Given the description of an element on the screen output the (x, y) to click on. 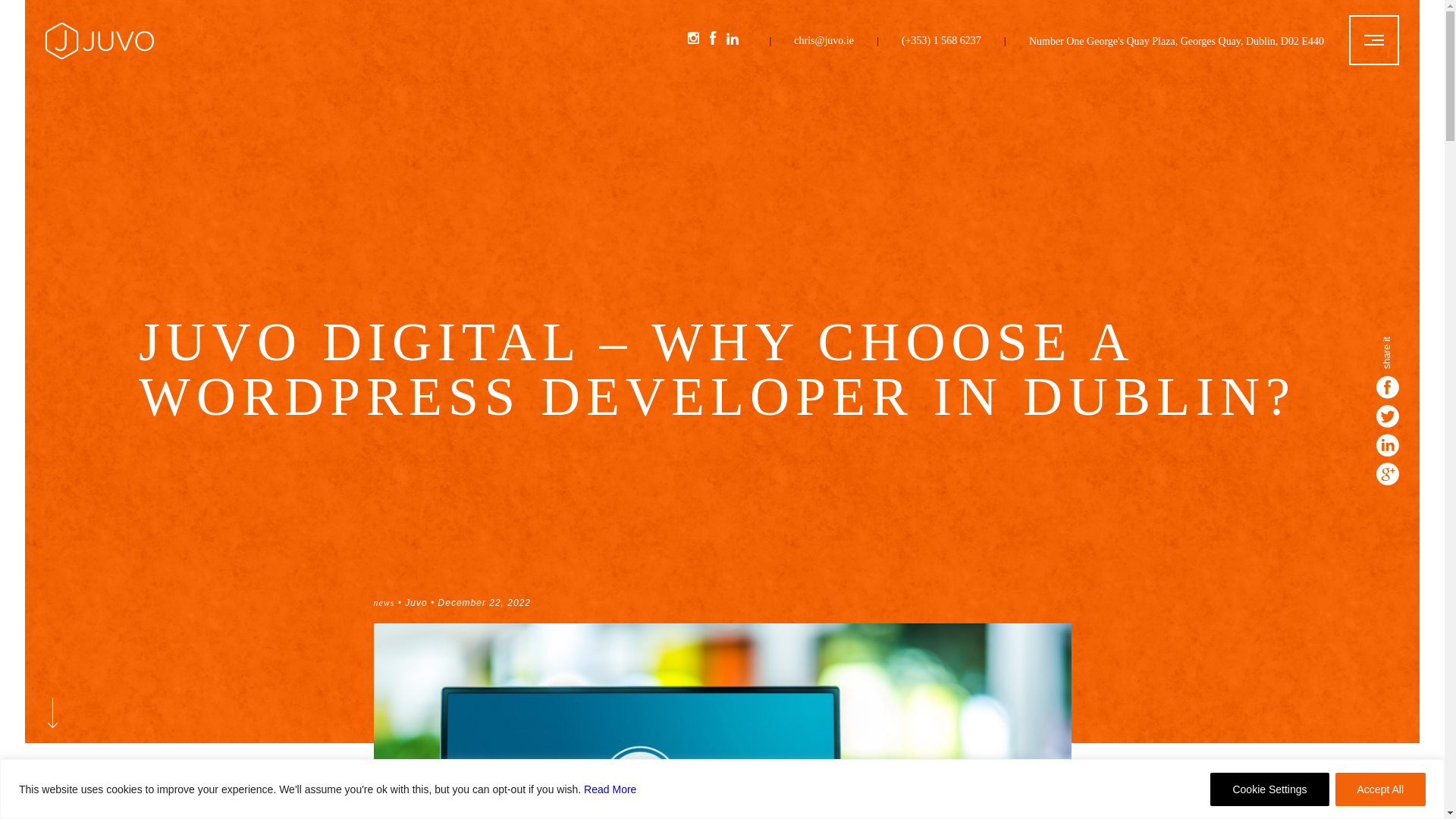
Cookie Settings (1268, 788)
Accept All (1380, 788)
Email Us (823, 50)
Main Menu (1374, 40)
Juvo Digital Home Page (99, 54)
Read More (609, 788)
Call us (941, 50)
Our Address (1176, 41)
